Given the description of an element on the screen output the (x, y) to click on. 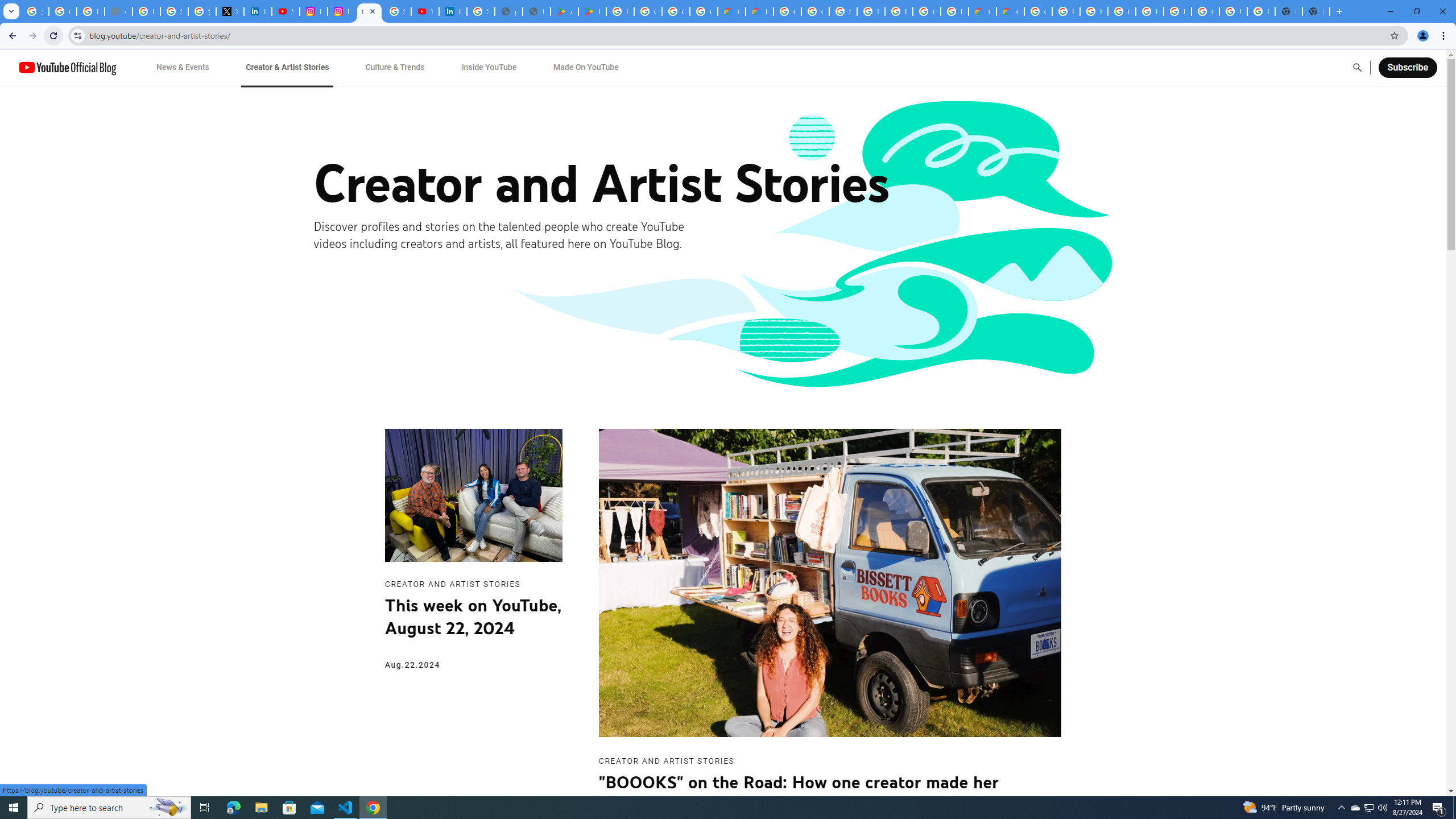
X (229, 11)
Browse Chrome as a guest - Computer - Google Chrome Help (1093, 11)
Sign in - Google Accounts (842, 11)
Customer Care | Google Cloud (731, 11)
Browse Chrome as a guest - Computer - Google Chrome Help (1065, 11)
Privacy Help Center - Policies Help (146, 11)
Google Cloud Platform (1038, 11)
News & Events (182, 67)
